Given the description of an element on the screen output the (x, y) to click on. 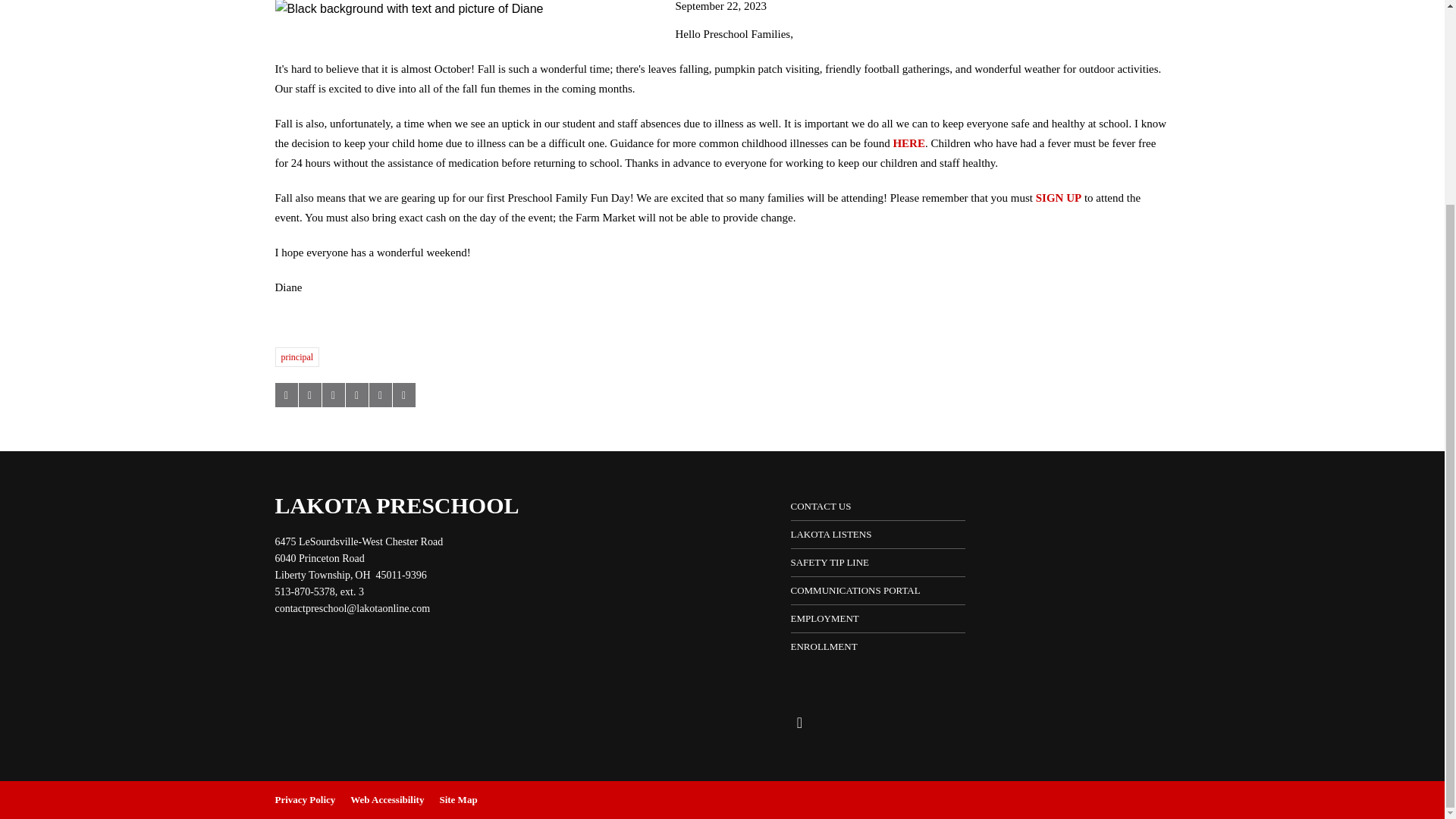
Email (352, 608)
Powered by Finalsite opens in a new window (1335, 797)
Print this page (403, 395)
Share to LinkedIn (332, 395)
Share to Facebook (286, 395)
Share to Email (379, 395)
Share to Twitter (309, 395)
Share to Pinterest (357, 395)
